Given the description of an element on the screen output the (x, y) to click on. 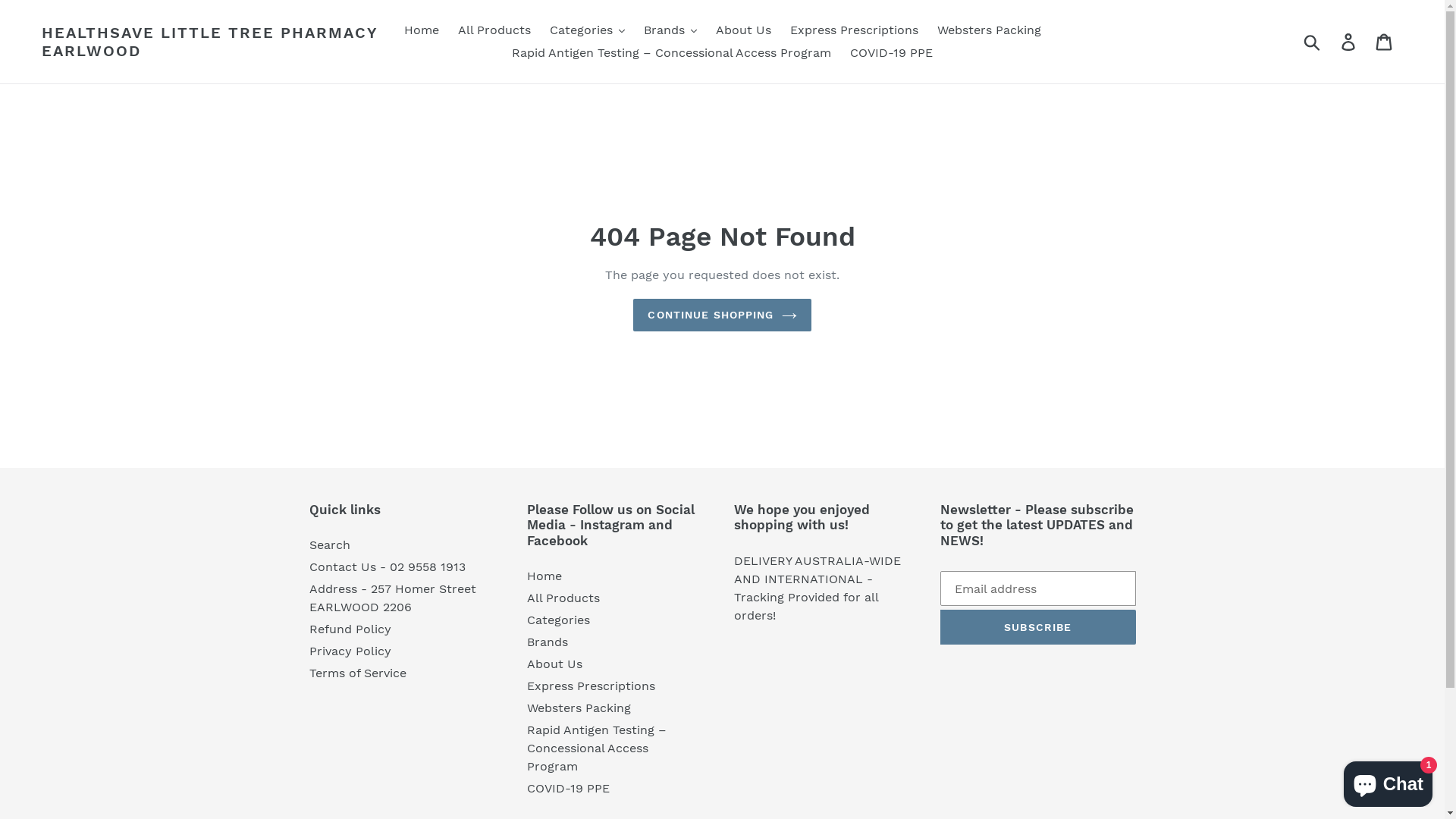
Brands Element type: text (547, 641)
Websters Packing Element type: text (578, 707)
Contact Us - 02 9558 1913 Element type: text (387, 566)
Express Prescriptions Element type: text (853, 29)
COVID-19 PPE Element type: text (568, 788)
SUBSCRIBE Element type: text (1037, 626)
Terms of Service Element type: text (357, 672)
HEALTHSAVE LITTLE TREE PHARMACY EARLWOOD Element type: text (211, 41)
Express Prescriptions Element type: text (591, 685)
All Products Element type: text (563, 597)
Websters Packing Element type: text (988, 29)
Home Element type: text (544, 575)
Refund Policy Element type: text (350, 628)
COVID-19 PPE Element type: text (891, 52)
About Us Element type: text (743, 29)
Log in Element type: text (1349, 42)
Submit Element type: text (1312, 41)
About Us Element type: text (554, 663)
Privacy Policy Element type: text (350, 650)
All Products Element type: text (494, 29)
Cart Element type: text (1384, 42)
Address - 257 Homer Street EARLWOOD 2206 Element type: text (392, 597)
Search Element type: text (329, 544)
Home Element type: text (420, 29)
Categories Element type: text (558, 619)
Shopify online store chat Element type: hover (1388, 780)
CONTINUE SHOPPING Element type: text (721, 314)
